Given the description of an element on the screen output the (x, y) to click on. 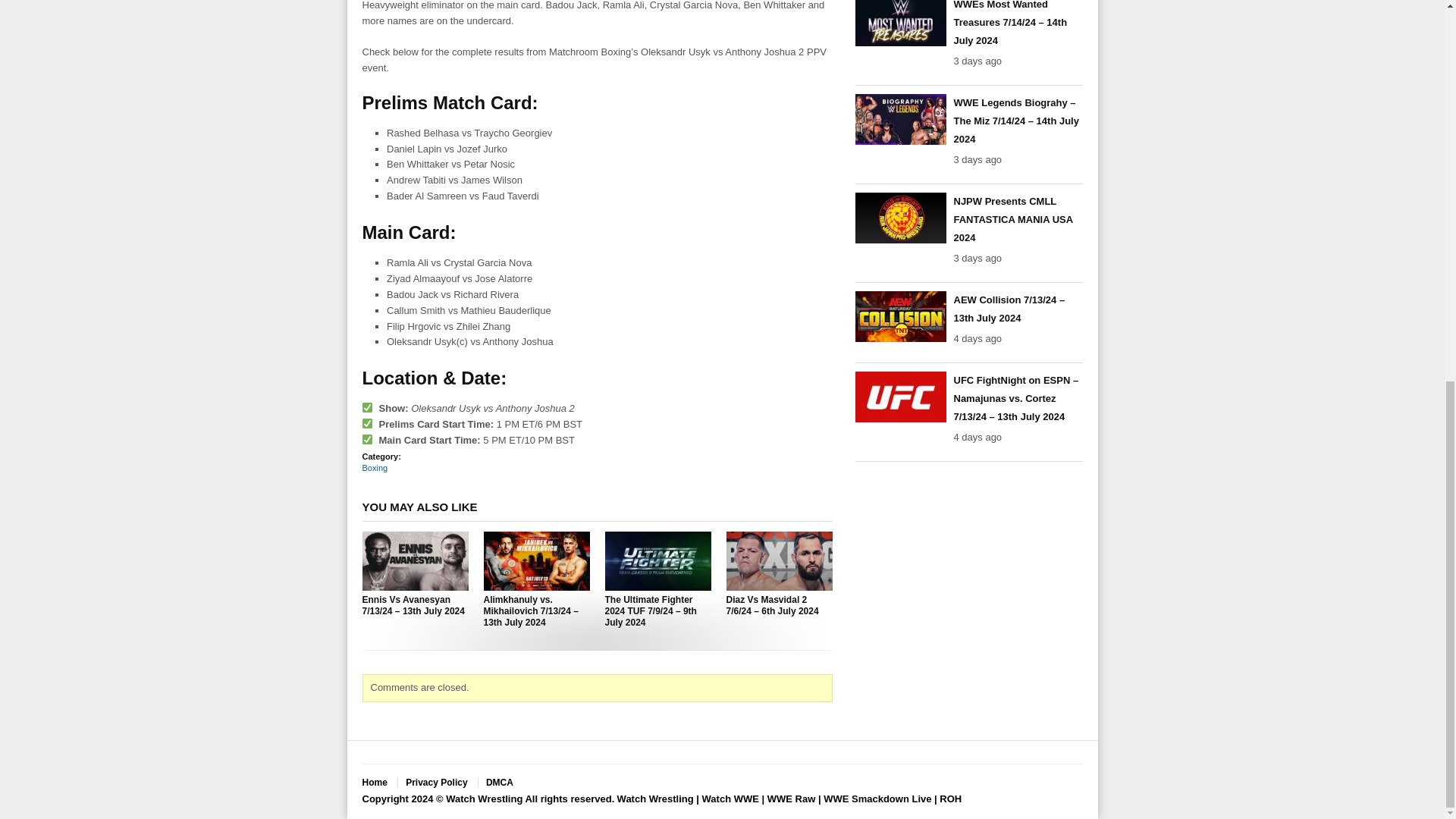
Boxing (375, 467)
